Given the description of an element on the screen output the (x, y) to click on. 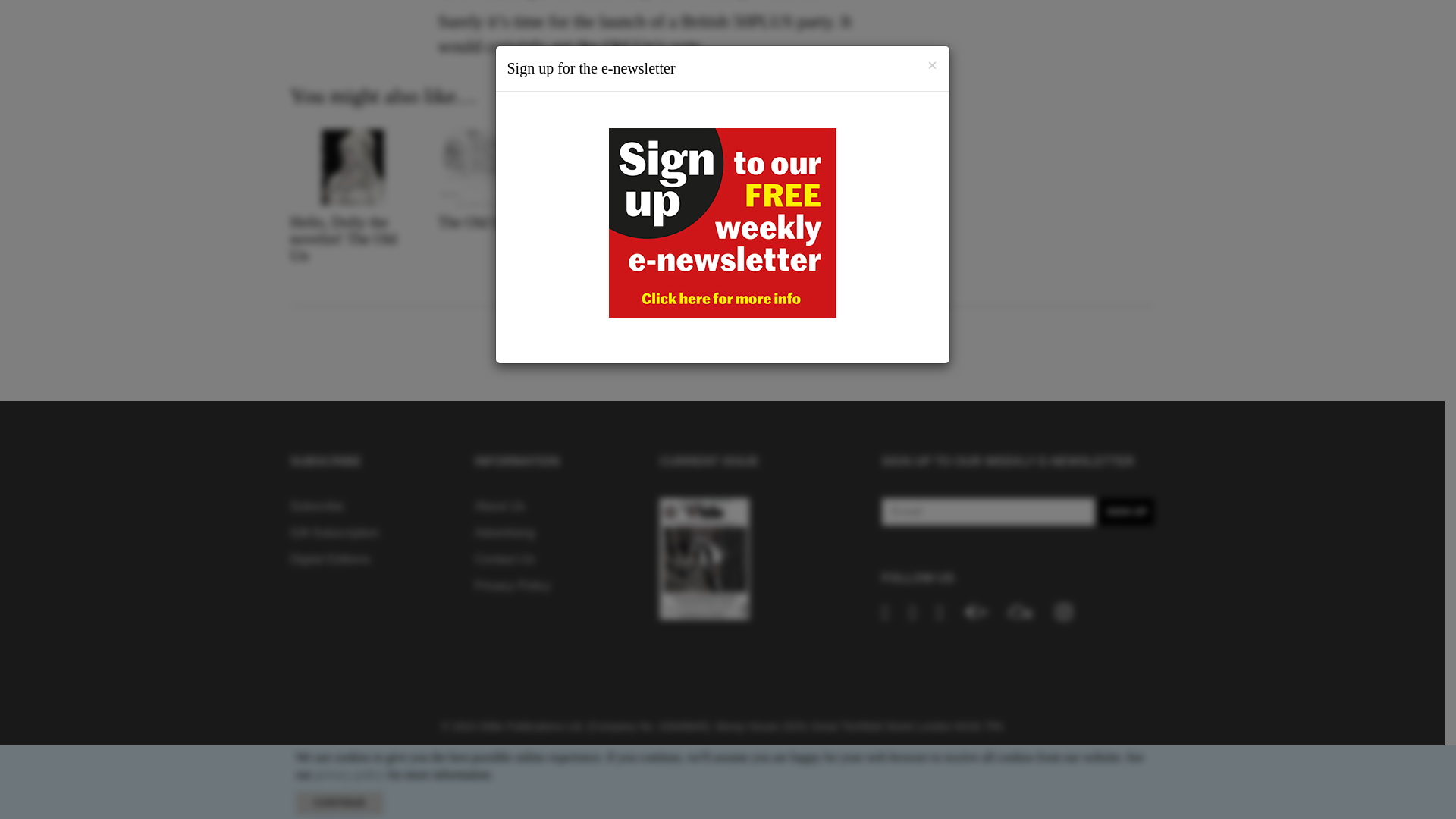
Icons8 (1063, 611)
Instagram (1063, 612)
